Given the description of an element on the screen output the (x, y) to click on. 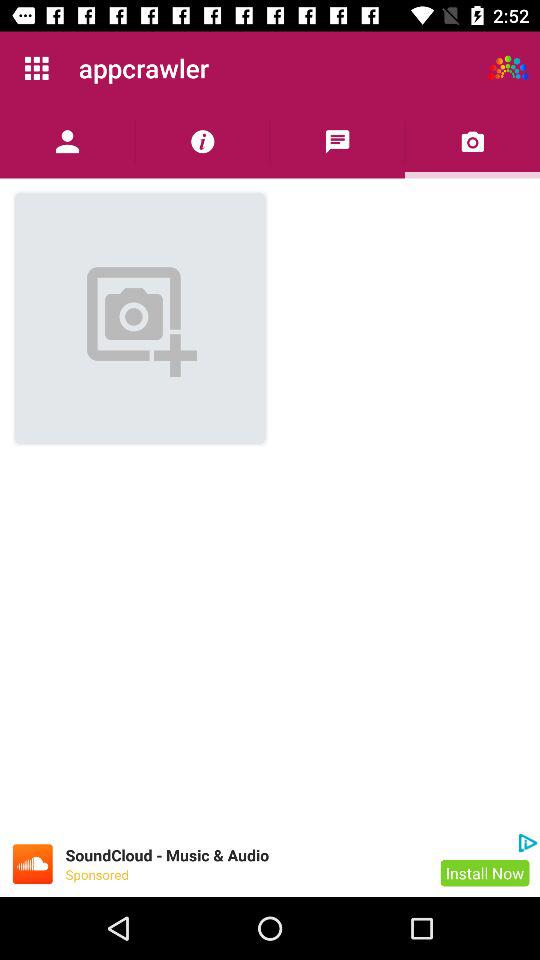
open user profile (67, 141)
